Given the description of an element on the screen output the (x, y) to click on. 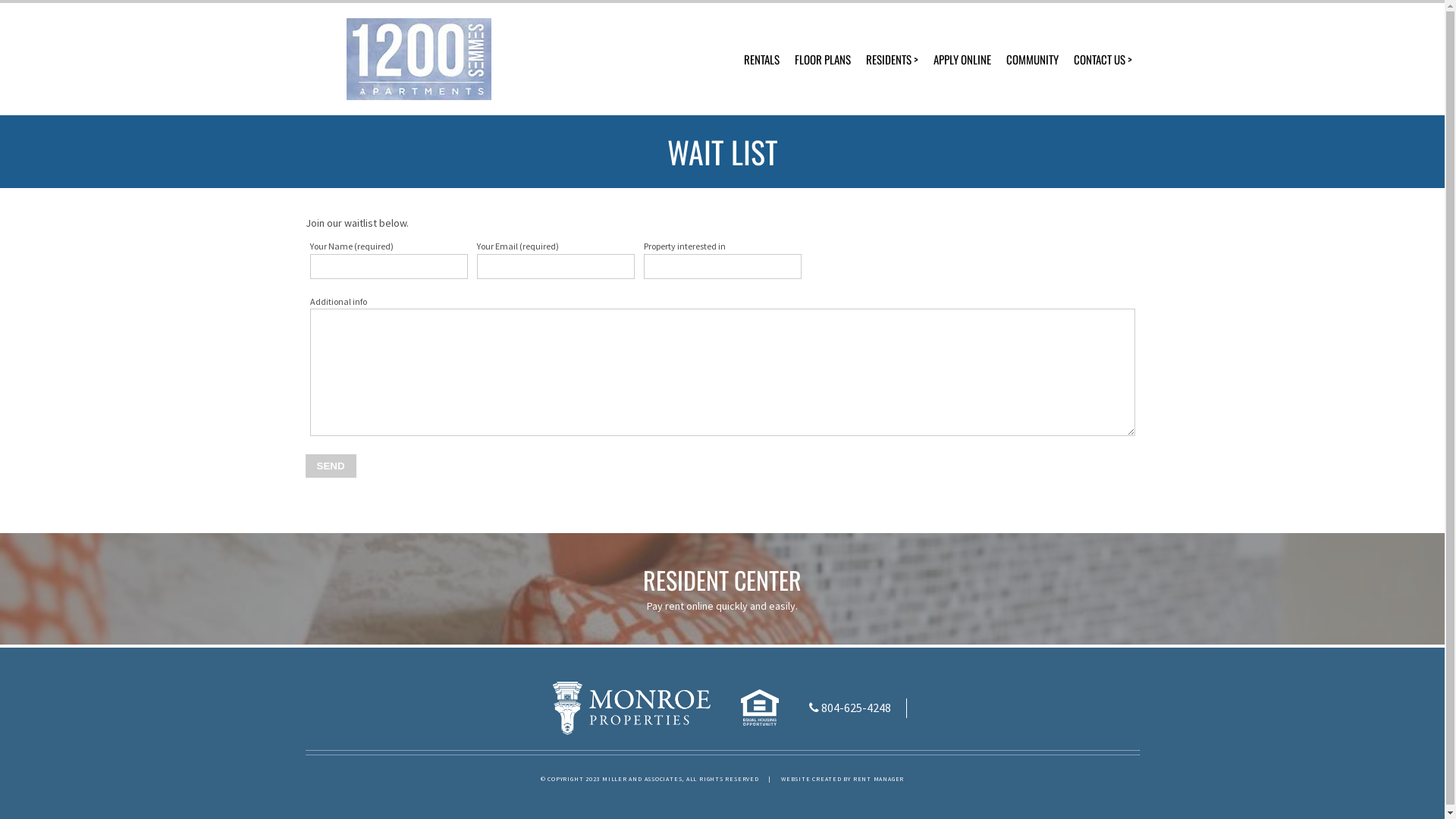
FLOOR PLANS Element type: text (822, 59)
CONTACT US Element type: text (1102, 59)
Send Element type: text (329, 465)
1200 Semmes Apartments Element type: hover (418, 59)
RENTALS Element type: text (760, 59)
COMMUNITY Element type: text (1031, 59)
APPLY ONLINE Element type: text (961, 59)
1200 Semmes Apartments Element type: hover (631, 707)
RESIDENTS Element type: text (891, 59)
RESIDENT CENTER
Pay rent online quickly and easily. Element type: text (722, 588)
WEBSITE CREATED BY RENT MANAGER Element type: text (842, 778)
